Given the description of an element on the screen output the (x, y) to click on. 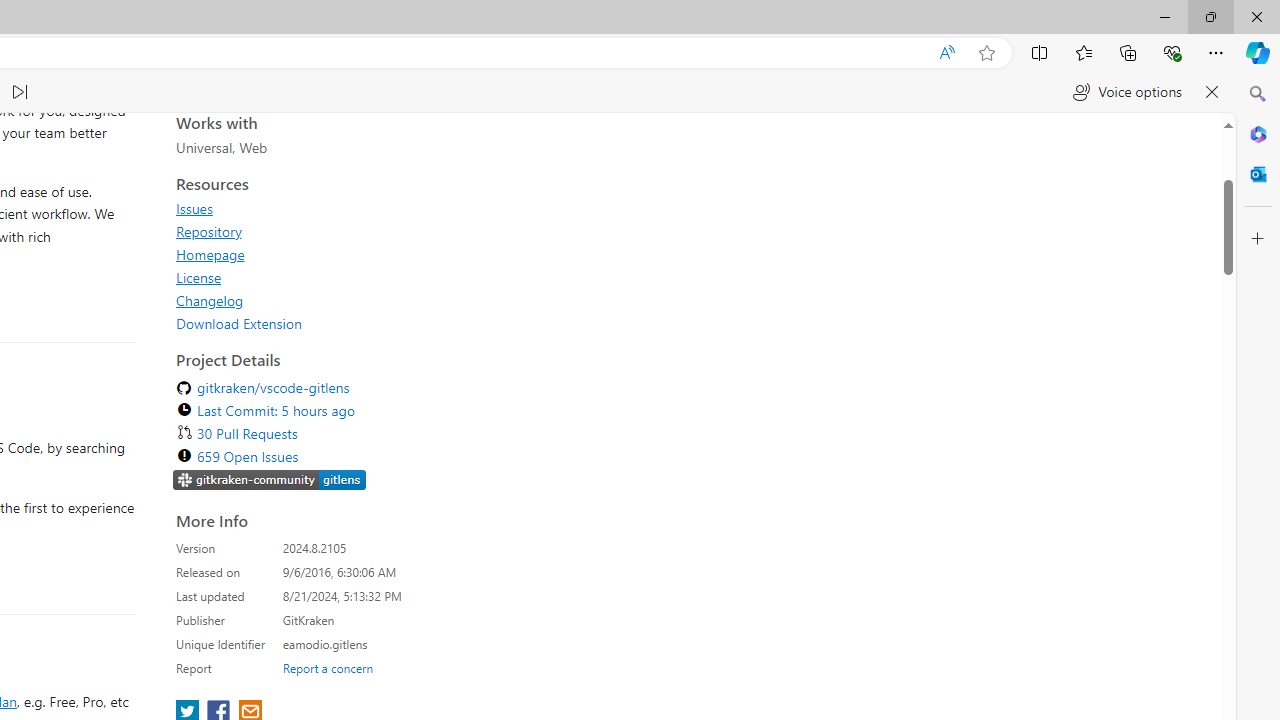
Read next paragraph (19, 92)
Changelog (358, 628)
Download Extension (239, 651)
Homepage (210, 582)
Issues (358, 536)
Homepage (358, 582)
Download Extension (358, 651)
Close read aloud (1211, 92)
